Given the description of an element on the screen output the (x, y) to click on. 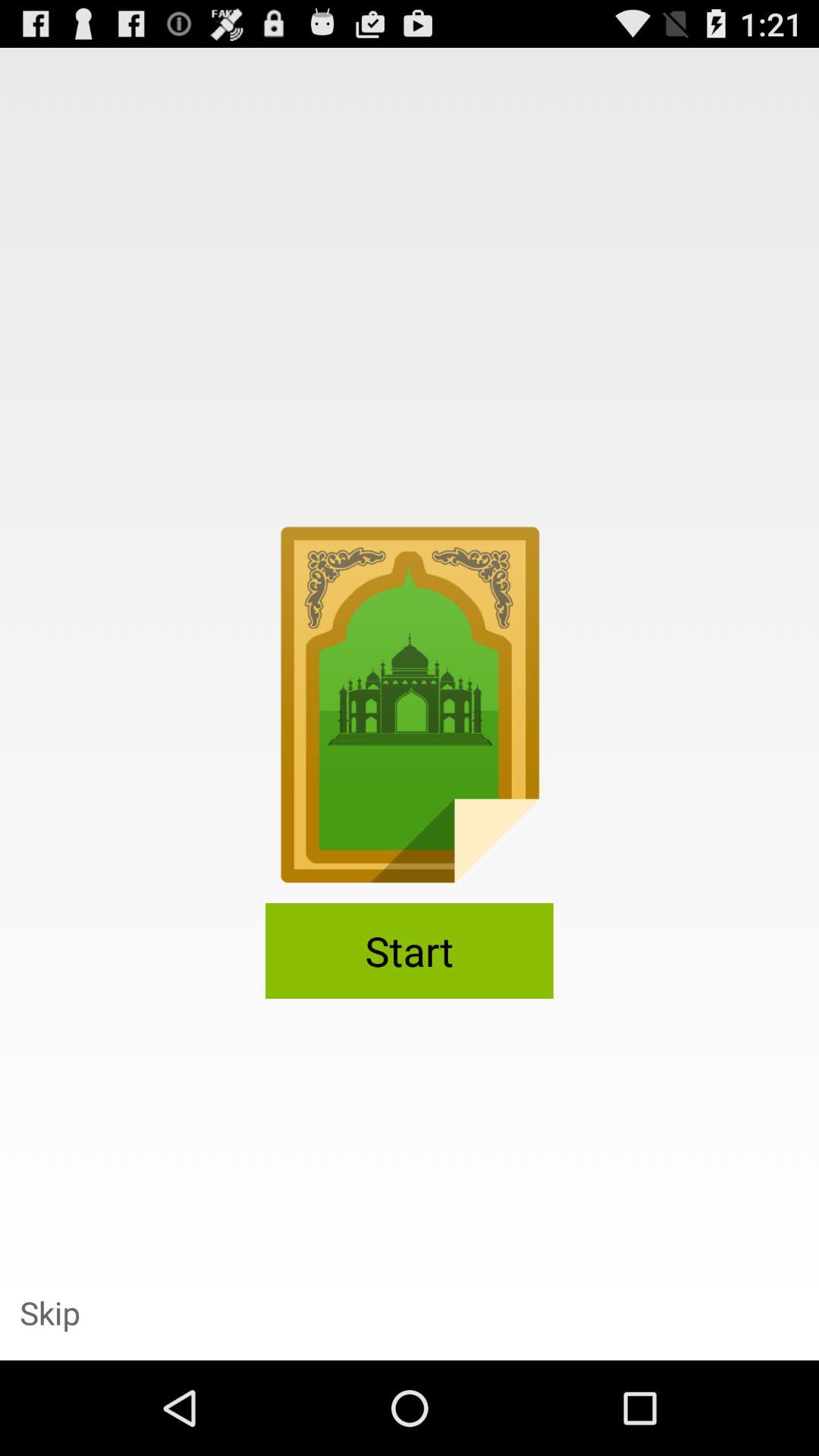
flip to the skip item (50, 1312)
